Given the description of an element on the screen output the (x, y) to click on. 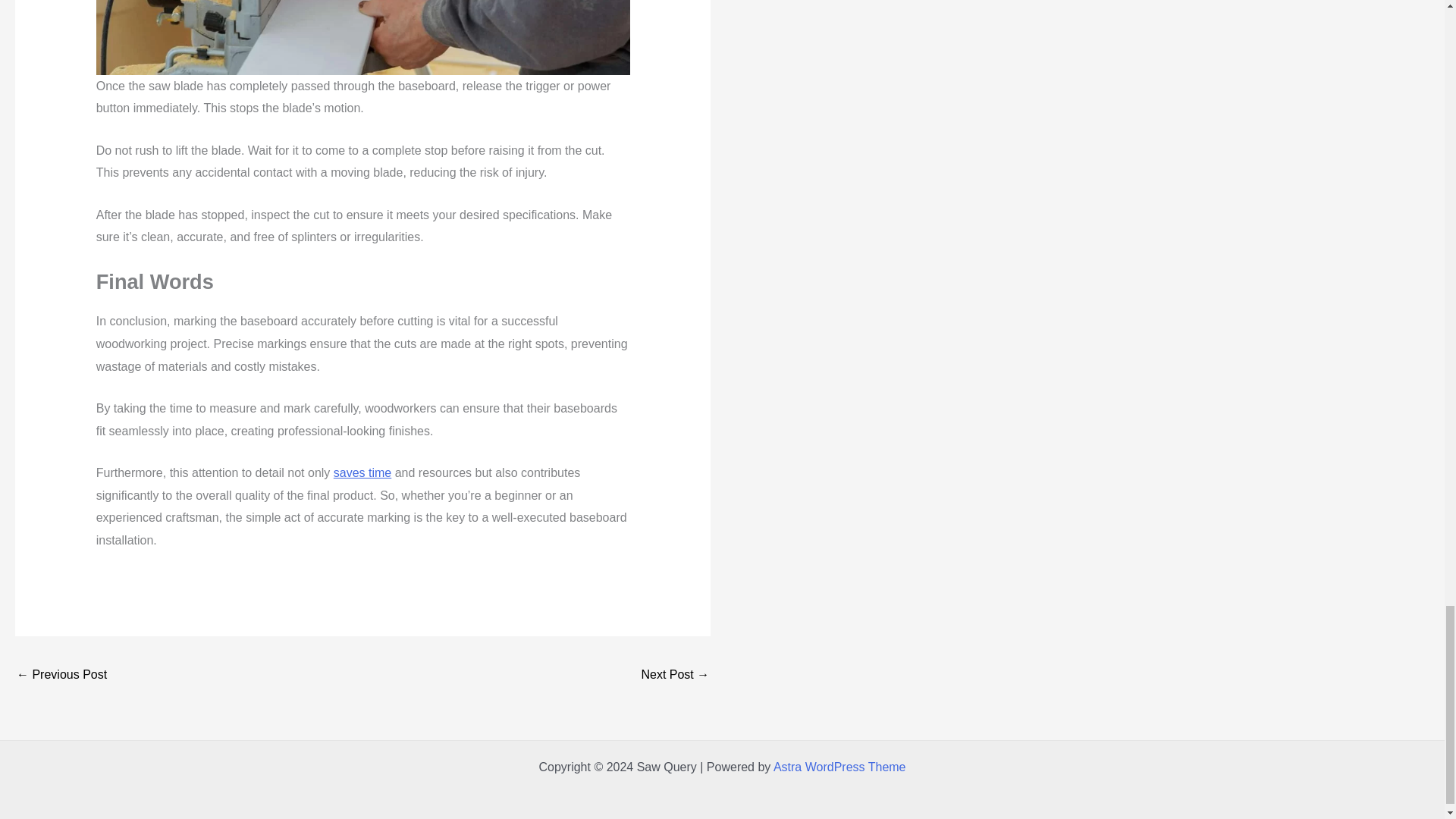
saves time (362, 472)
Can You Cut PVC with a Miter Saw? (674, 675)
Can You Cut Plexiglass with a Table Saw? (61, 675)
Astra WordPress Theme (839, 766)
